Given the description of an element on the screen output the (x, y) to click on. 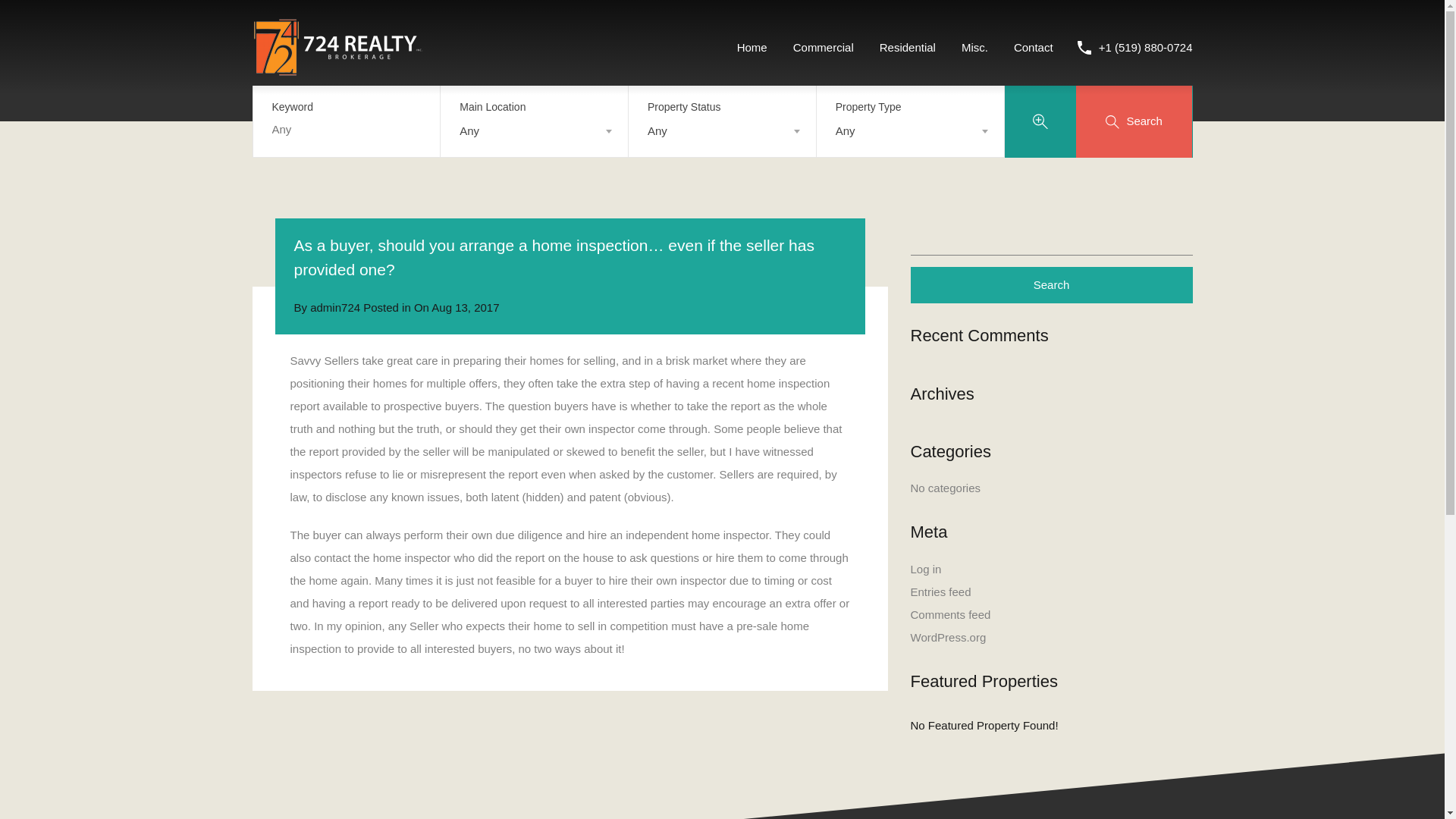
Search (1051, 284)
724 Realty (337, 68)
Any (721, 130)
Entries feed (940, 591)
Misc. (975, 47)
Log in (925, 569)
Home (751, 47)
Any (534, 130)
Residential (907, 47)
Comments feed (950, 614)
Commercial (823, 47)
Search (1051, 284)
Any (910, 130)
WordPress.org (947, 637)
Contact (1033, 47)
